Given the description of an element on the screen output the (x, y) to click on. 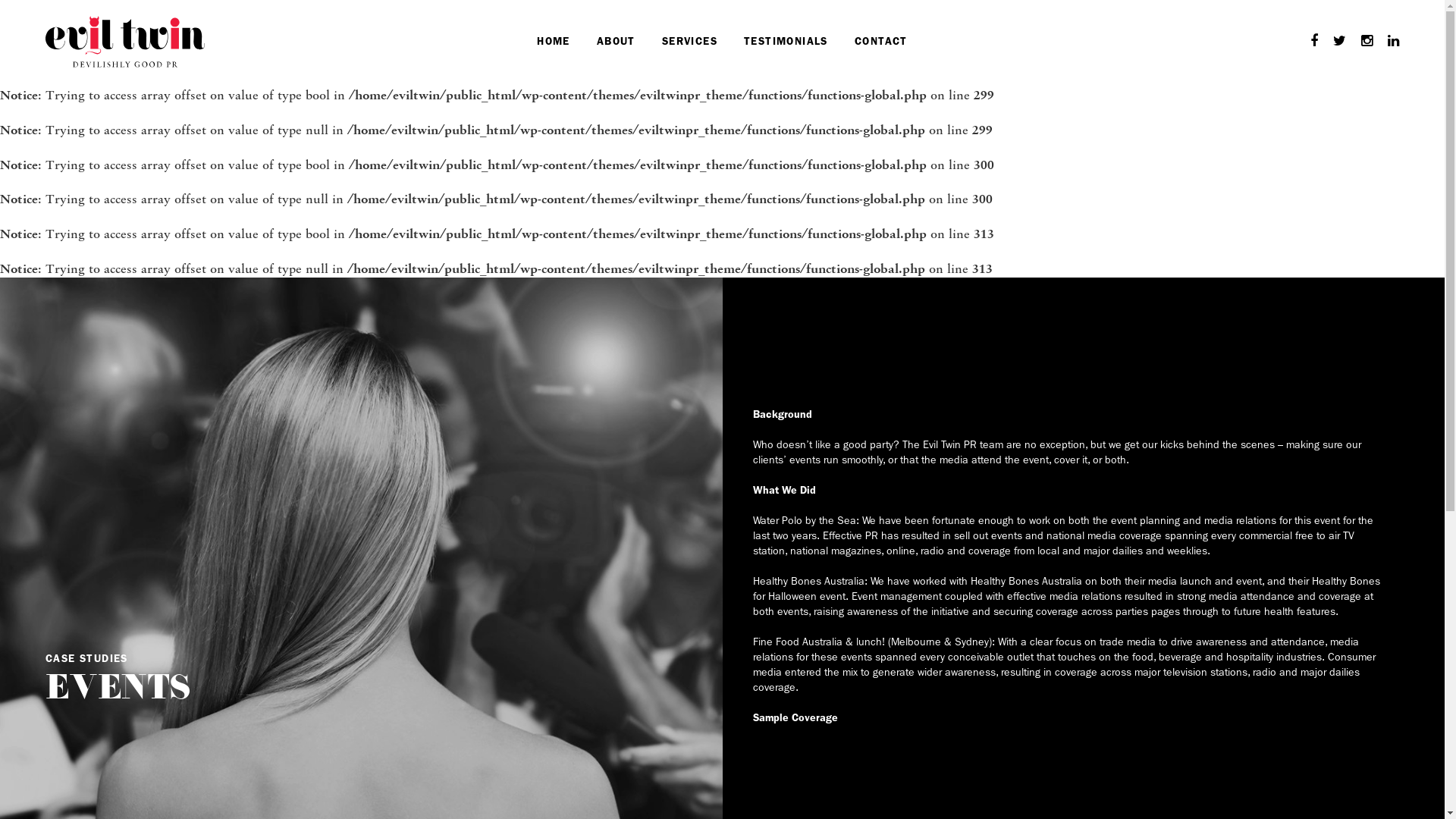
TESTIMONIALS Element type: text (785, 40)
CONTACT Element type: text (880, 40)
HOME Element type: text (553, 40)
ABOUT Element type: text (615, 40)
SERVICES Element type: text (689, 40)
